Given the description of an element on the screen output the (x, y) to click on. 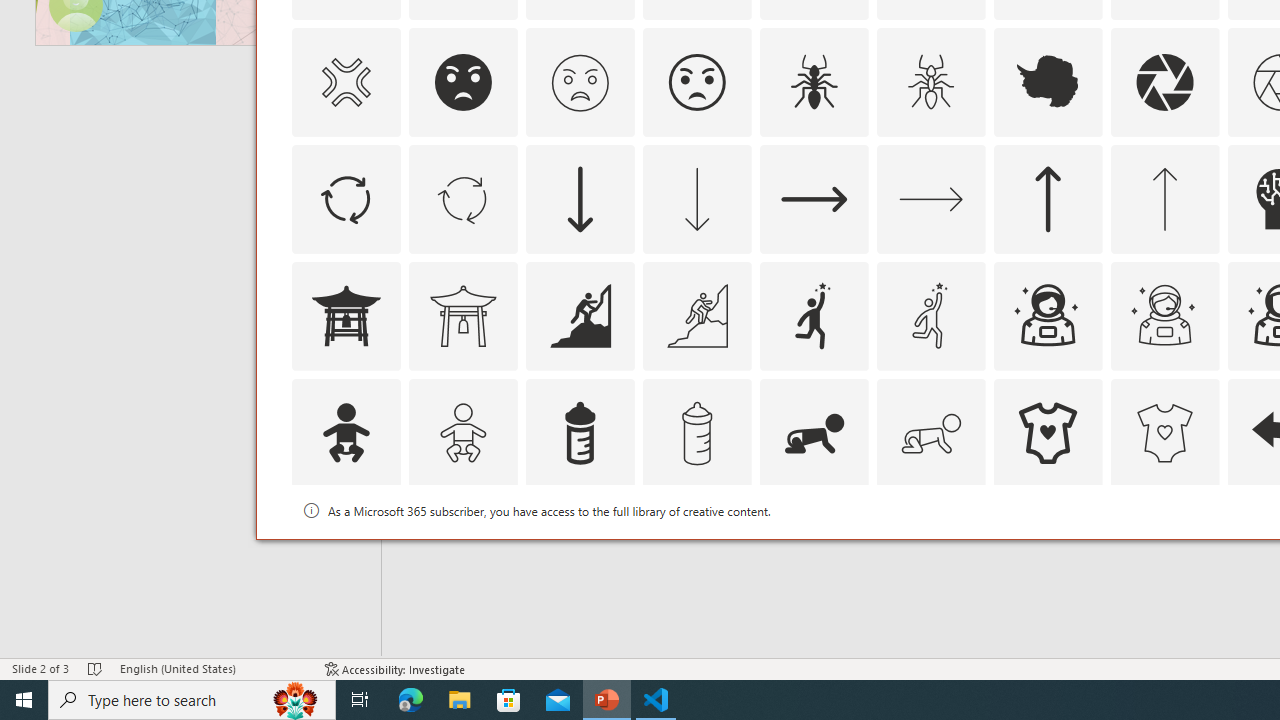
AutomationID: Icons_Aspiration (579, 316)
AutomationID: Icons_AngryFace_M (579, 82)
AutomationID: Icons_BabyBottle (579, 432)
AutomationID: Icons_Badge10_M (345, 550)
AutomationID: Icons_Aspiration_M (696, 316)
AutomationID: Icons_Antarctica (1048, 82)
